Given the description of an element on the screen output the (x, y) to click on. 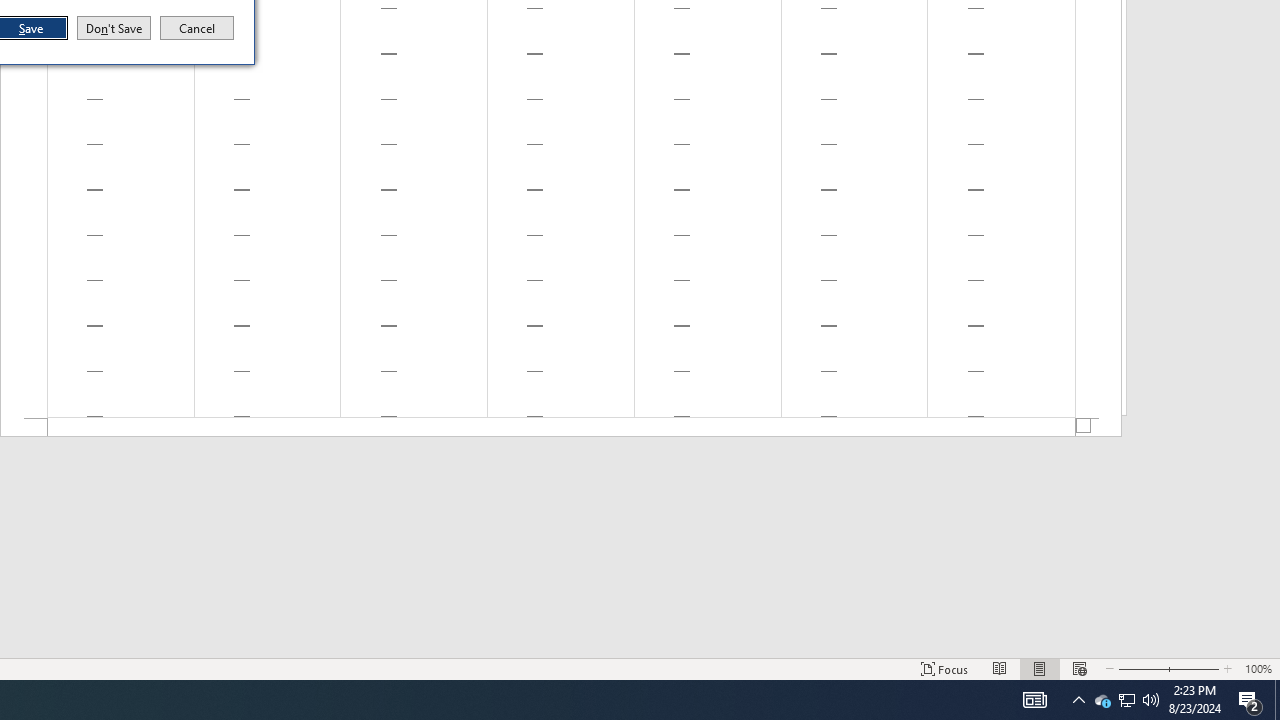
Don't Save (113, 27)
